Given the description of an element on the screen output the (x, y) to click on. 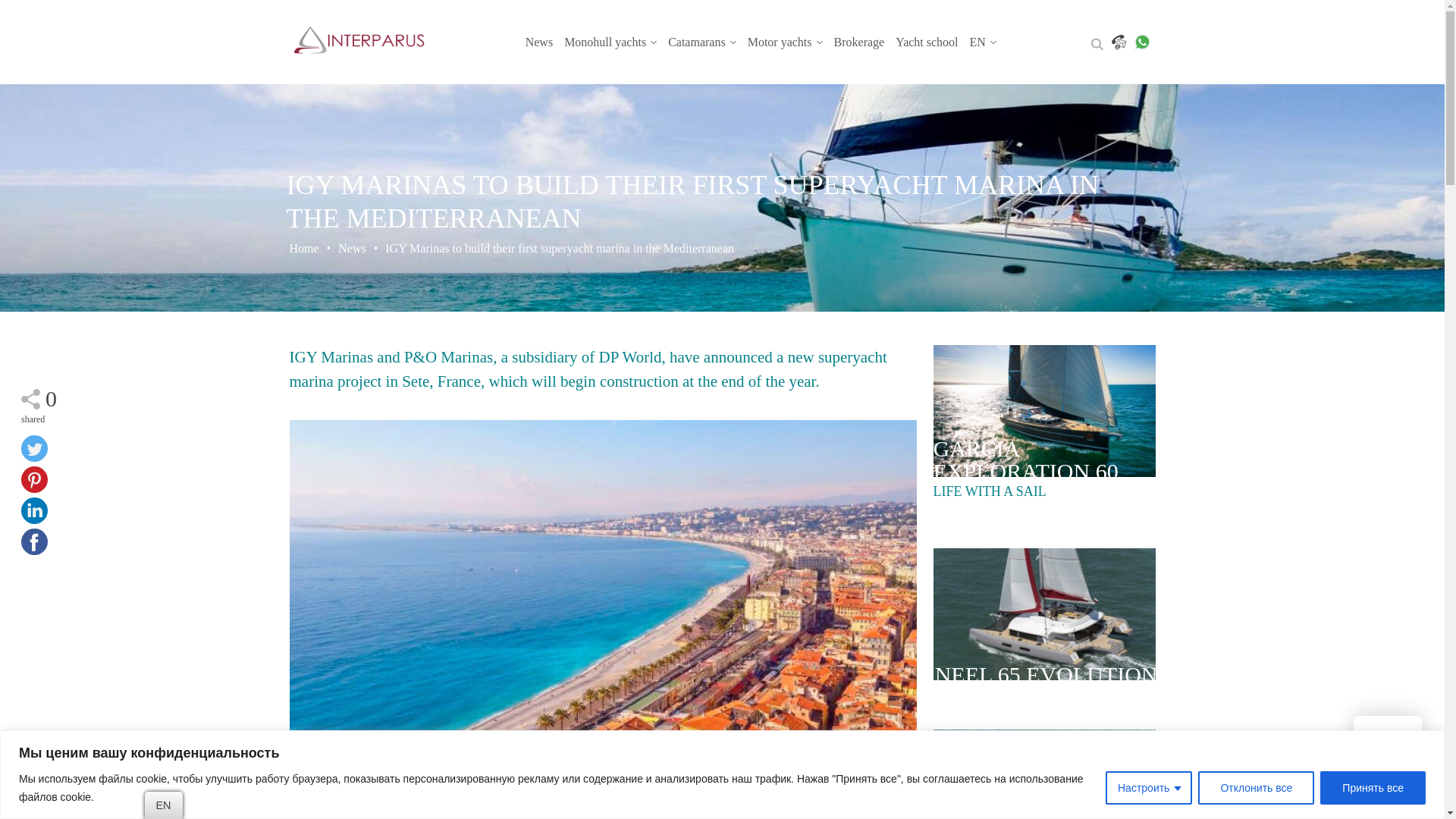
Monohull yachts (610, 42)
Catamarans (702, 42)
News (539, 42)
Motor yachts (785, 42)
